Given the description of an element on the screen output the (x, y) to click on. 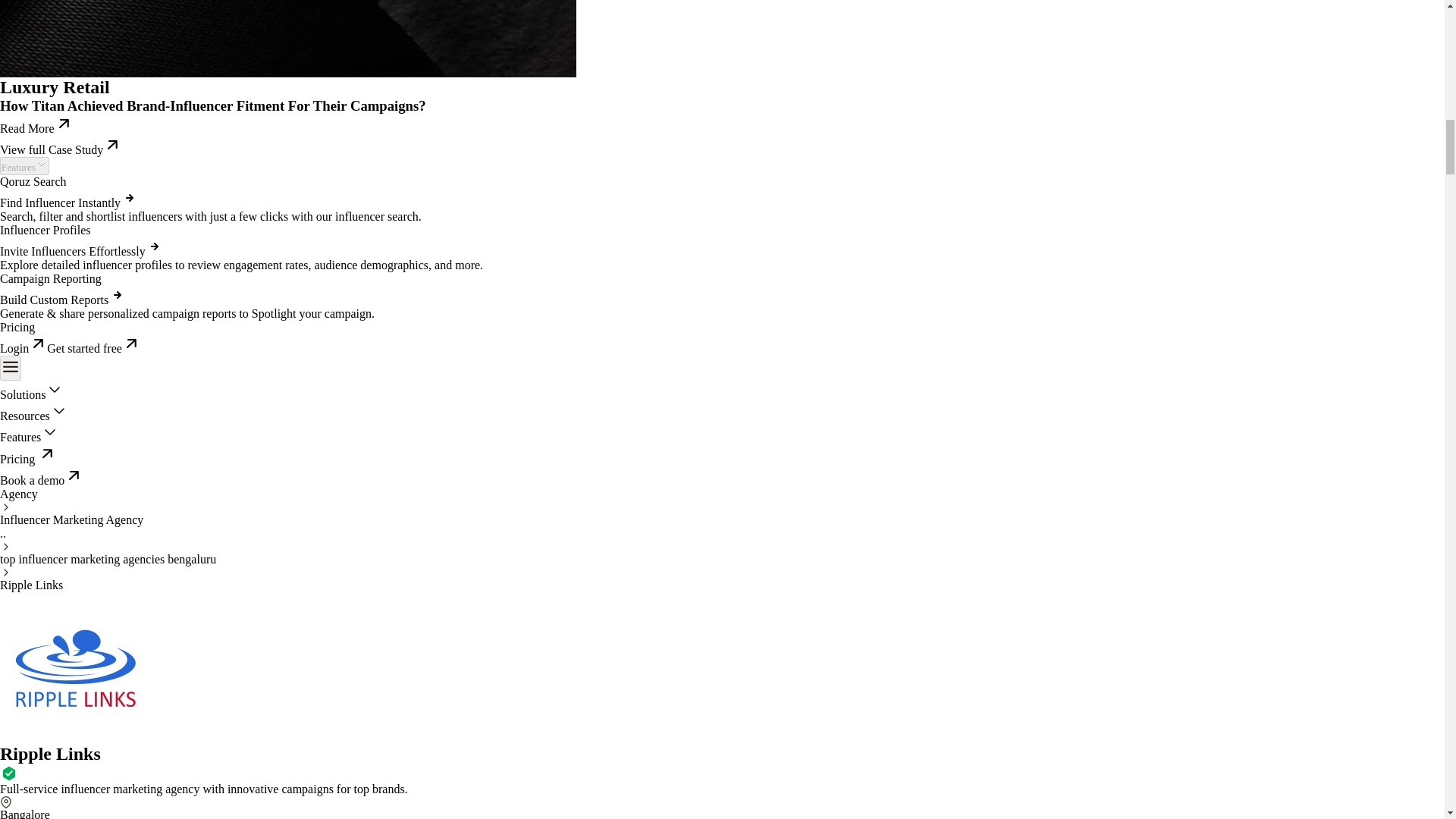
Pricing (28, 459)
Pricing (17, 327)
View full Case Study (60, 149)
Ripple Links (31, 584)
Get started free (92, 348)
Read More (36, 128)
Features (24, 166)
Login (23, 348)
Influencer Marketing Agency (71, 519)
Book a demo (41, 480)
Agency (18, 493)
top influencer marketing agencies bengaluru (107, 558)
